Given the description of an element on the screen output the (x, y) to click on. 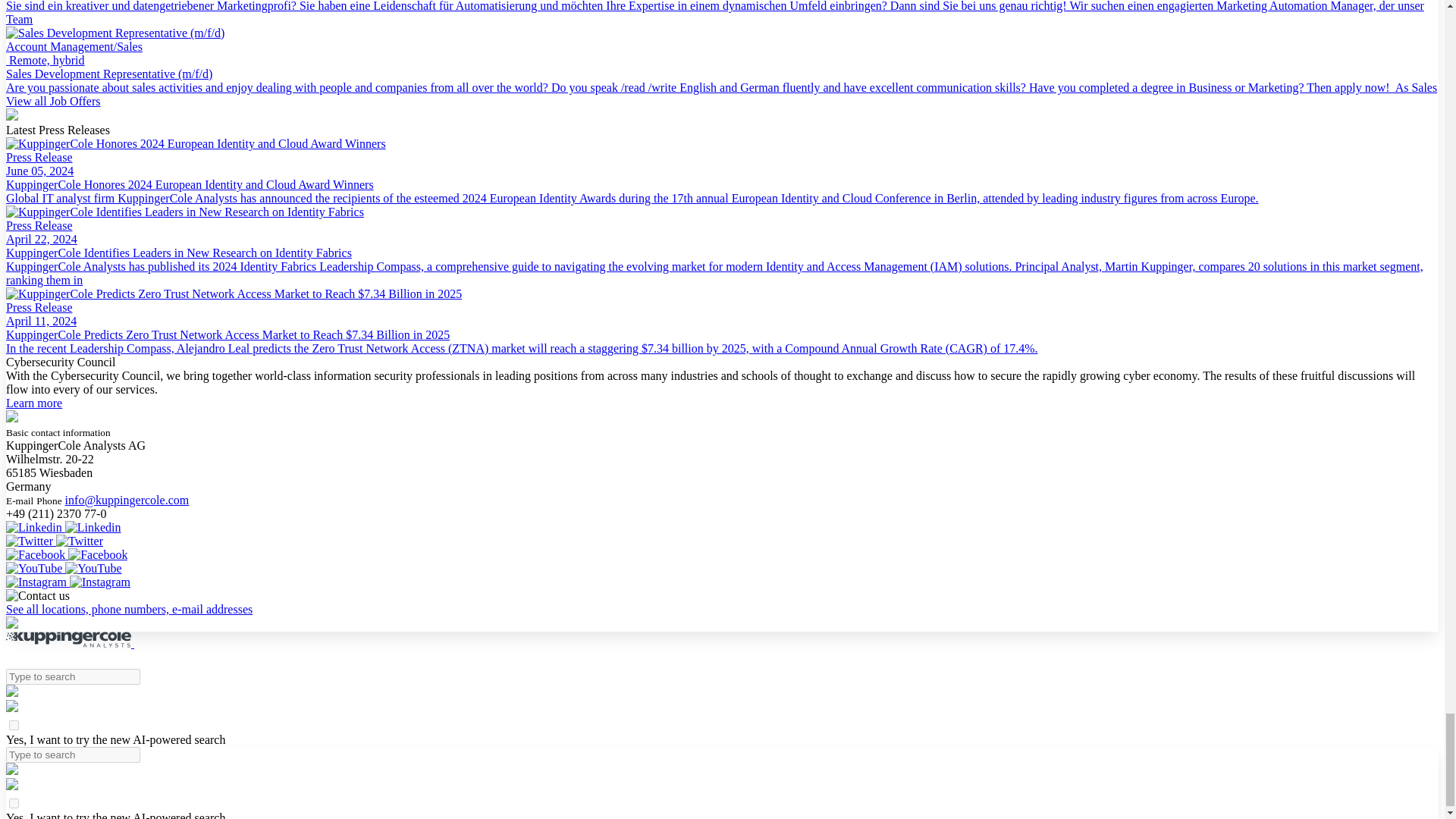
on (13, 803)
on (13, 725)
